Given the description of an element on the screen output the (x, y) to click on. 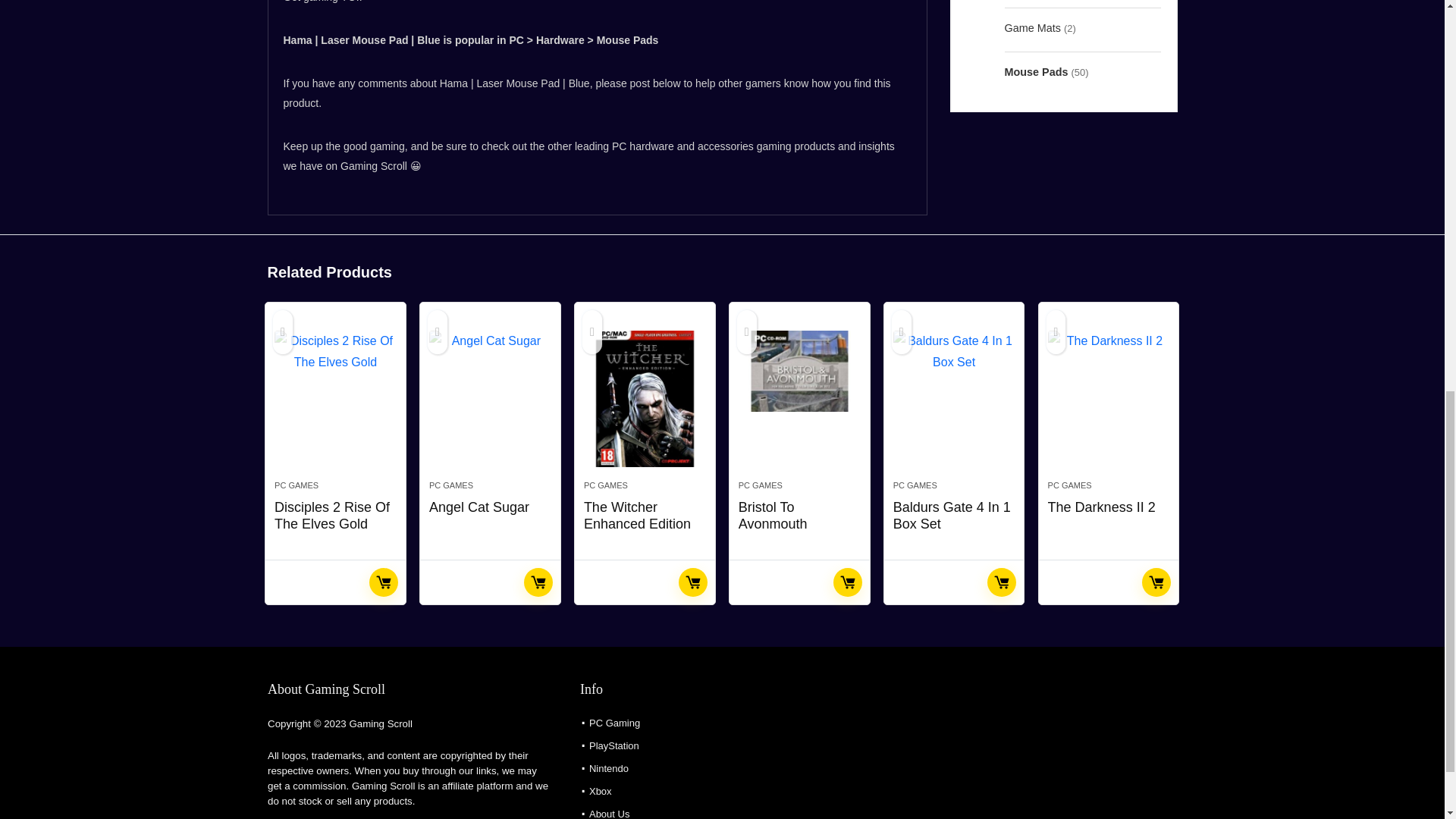
Game Mats (1031, 27)
Disciples 2 Rise Of The Elves Gold (335, 398)
Mouse Pads (1035, 71)
PC GAMES (296, 484)
PC GAMES (451, 484)
Baldurs Gate 4 In 1 Box Set (953, 398)
Adapters (1026, 2)
Angel Cat Sugar (490, 398)
Disciples 2 Rise Of The Elves Gold (332, 515)
The Darkness II 2 (1109, 398)
